Given the description of an element on the screen output the (x, y) to click on. 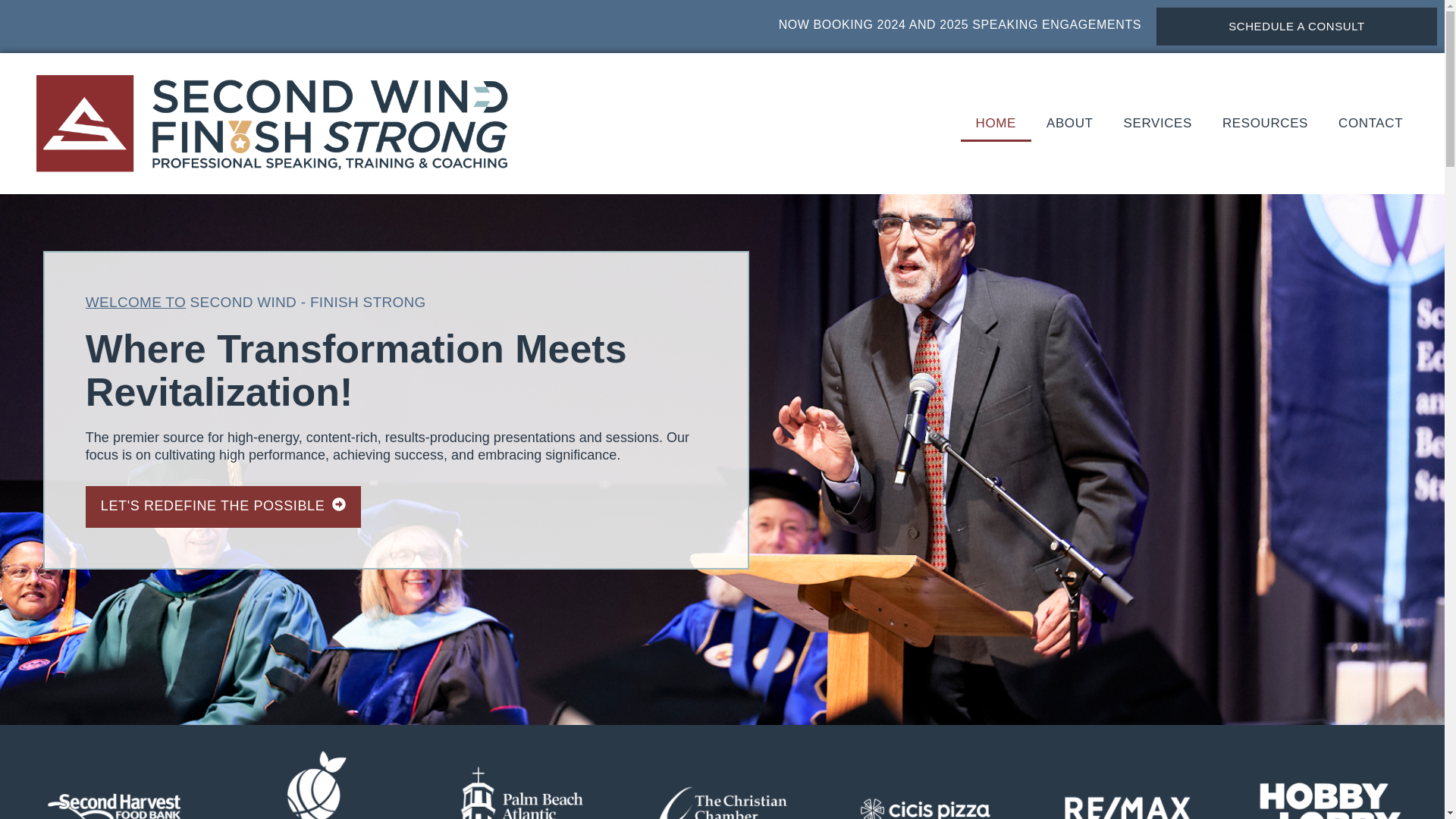
LET'S REDEFINE THE POSSIBLE (223, 506)
RESOURCES (1265, 123)
ABOUT (1069, 123)
HOME (995, 123)
SCHEDULE A CONSULT (1296, 26)
CONTACT (1370, 123)
SERVICES (1157, 123)
